Given the description of an element on the screen output the (x, y) to click on. 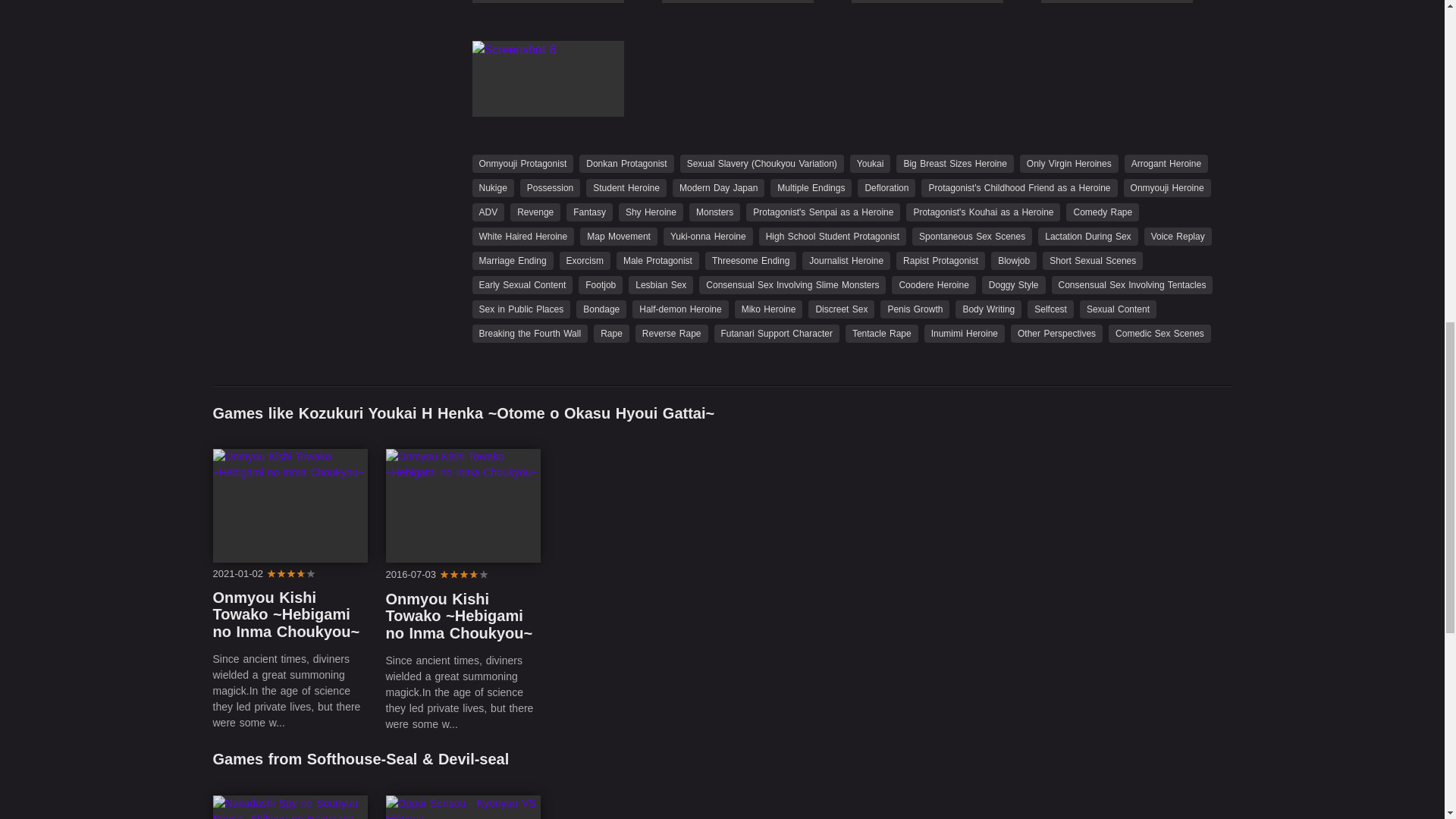
Arrogant Heroine (1166, 163)
Onmyouji Protagonist (522, 163)
Student Heroine (626, 188)
Protagonist's Childhood Friend as a Heroine (1018, 188)
Multiple Endings (810, 188)
Possession (549, 188)
Modern Day Japan (718, 188)
Only Virgin Heroines (1069, 163)
Onmyouji Heroine (1167, 188)
Nukige (492, 188)
